Given the description of an element on the screen output the (x, y) to click on. 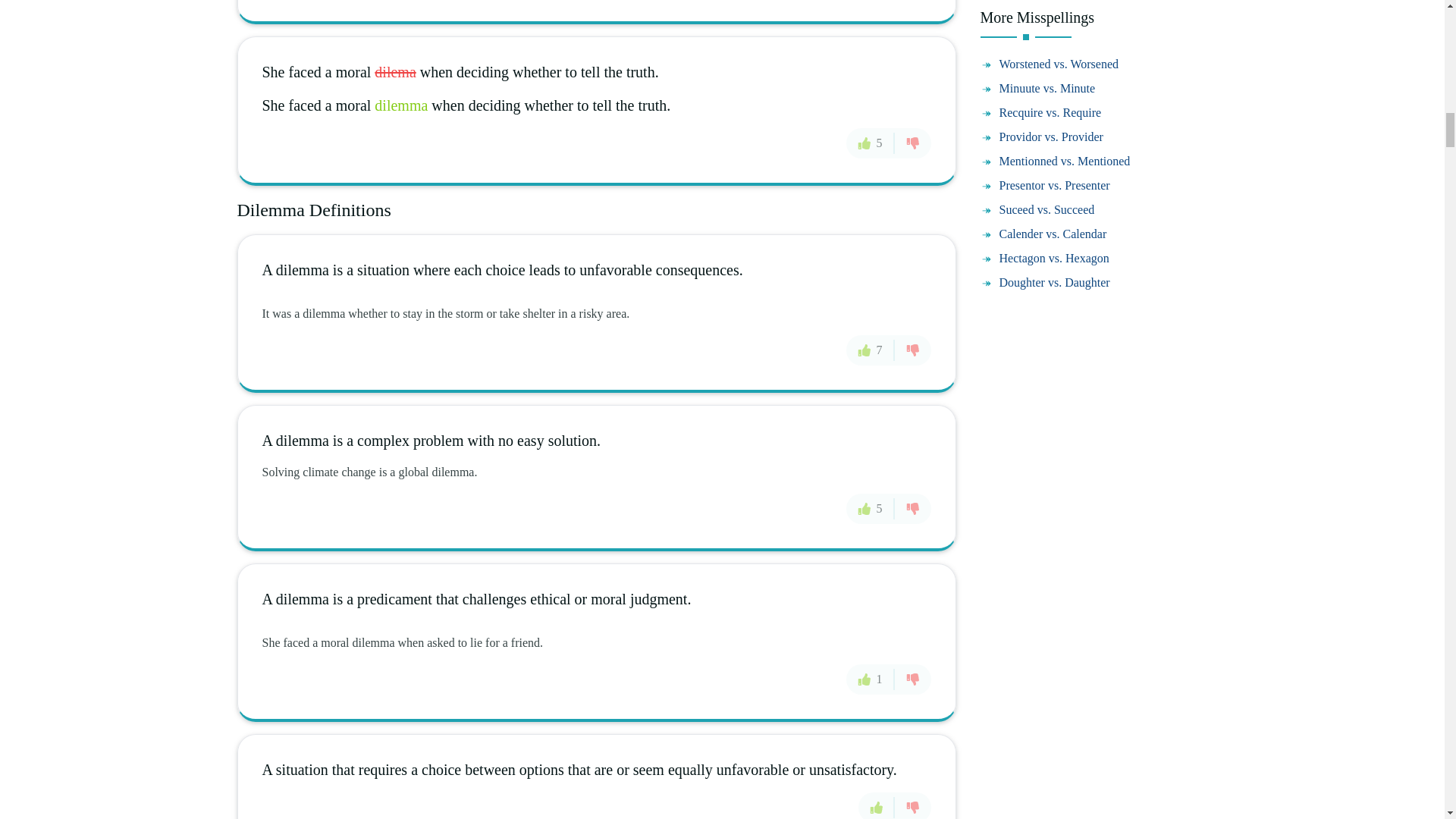
7 (870, 349)
5 (870, 142)
1 (870, 679)
5 (870, 508)
